Given the description of an element on the screen output the (x, y) to click on. 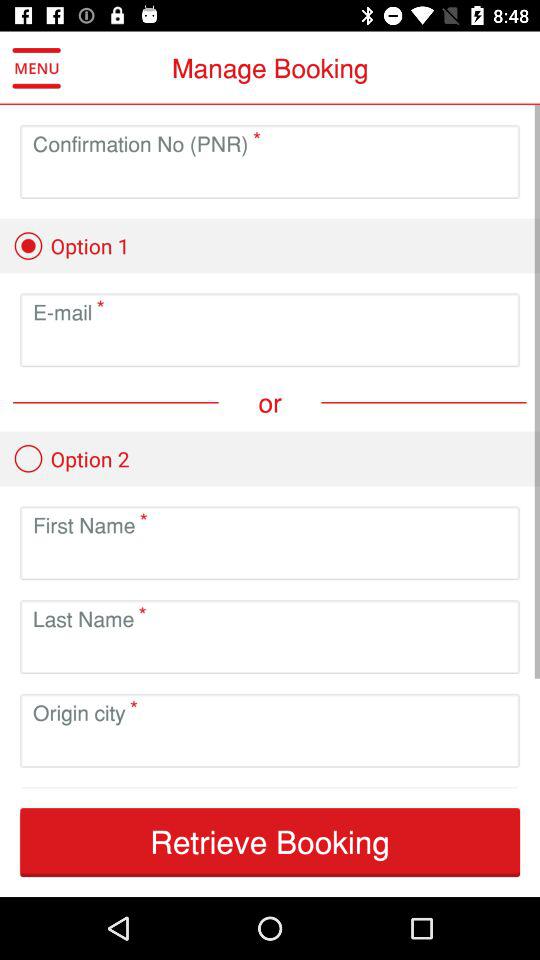
e-mail (270, 345)
